Given the description of an element on the screen output the (x, y) to click on. 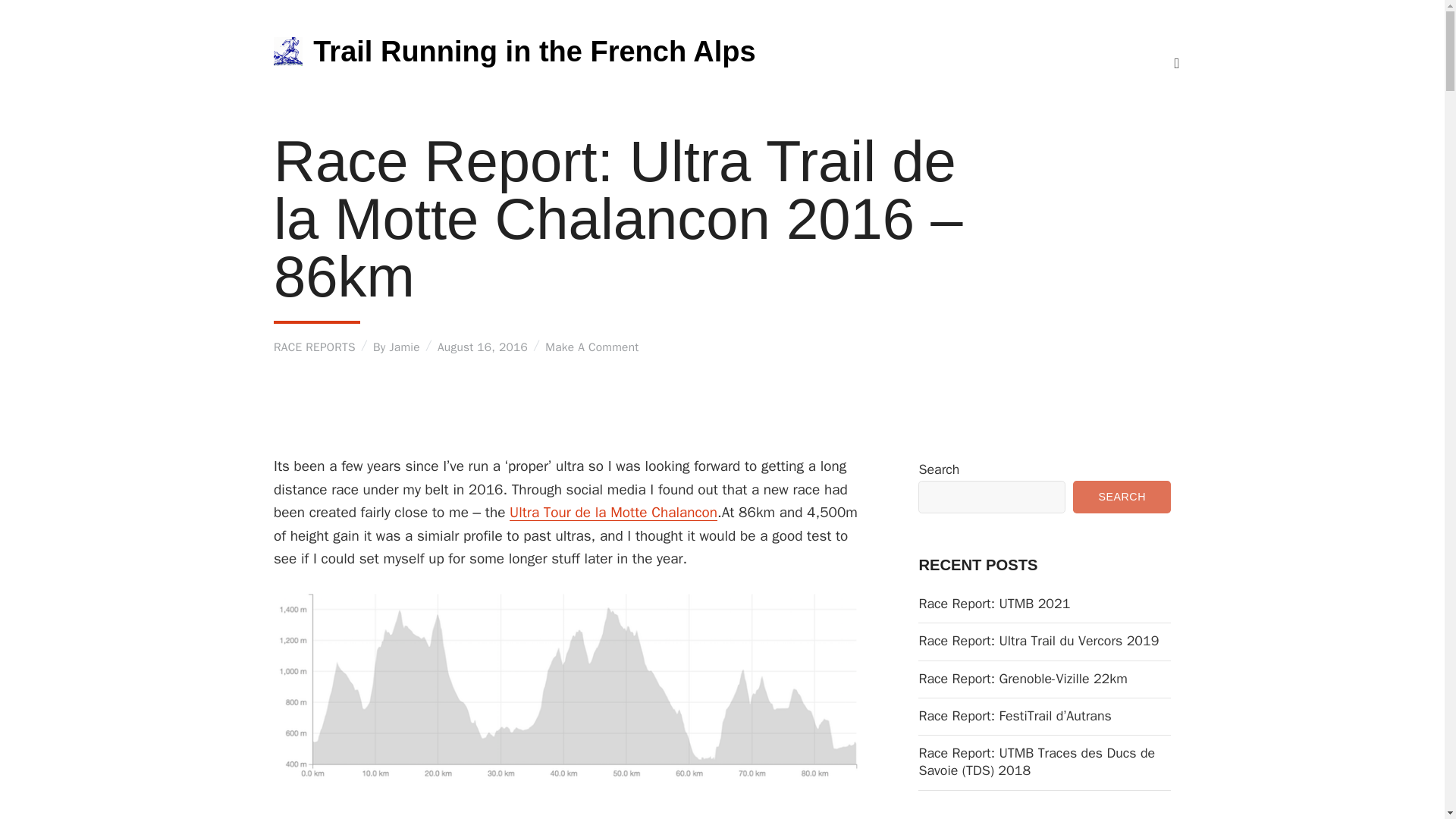
SEARCH (1121, 497)
RACE REPORTS (314, 346)
Jamie (403, 346)
Race Report: Ultra Trail du Vercors 2019 (1044, 641)
Race Report: Grenoble-Vizille 22km (1044, 678)
Trail Running in the French Alps (534, 51)
Race Report: UTMB 2021 (1044, 603)
Ultra Tour de la Motte Chalancon (613, 512)
August 16, 2016 (482, 346)
